Given the description of an element on the screen output the (x, y) to click on. 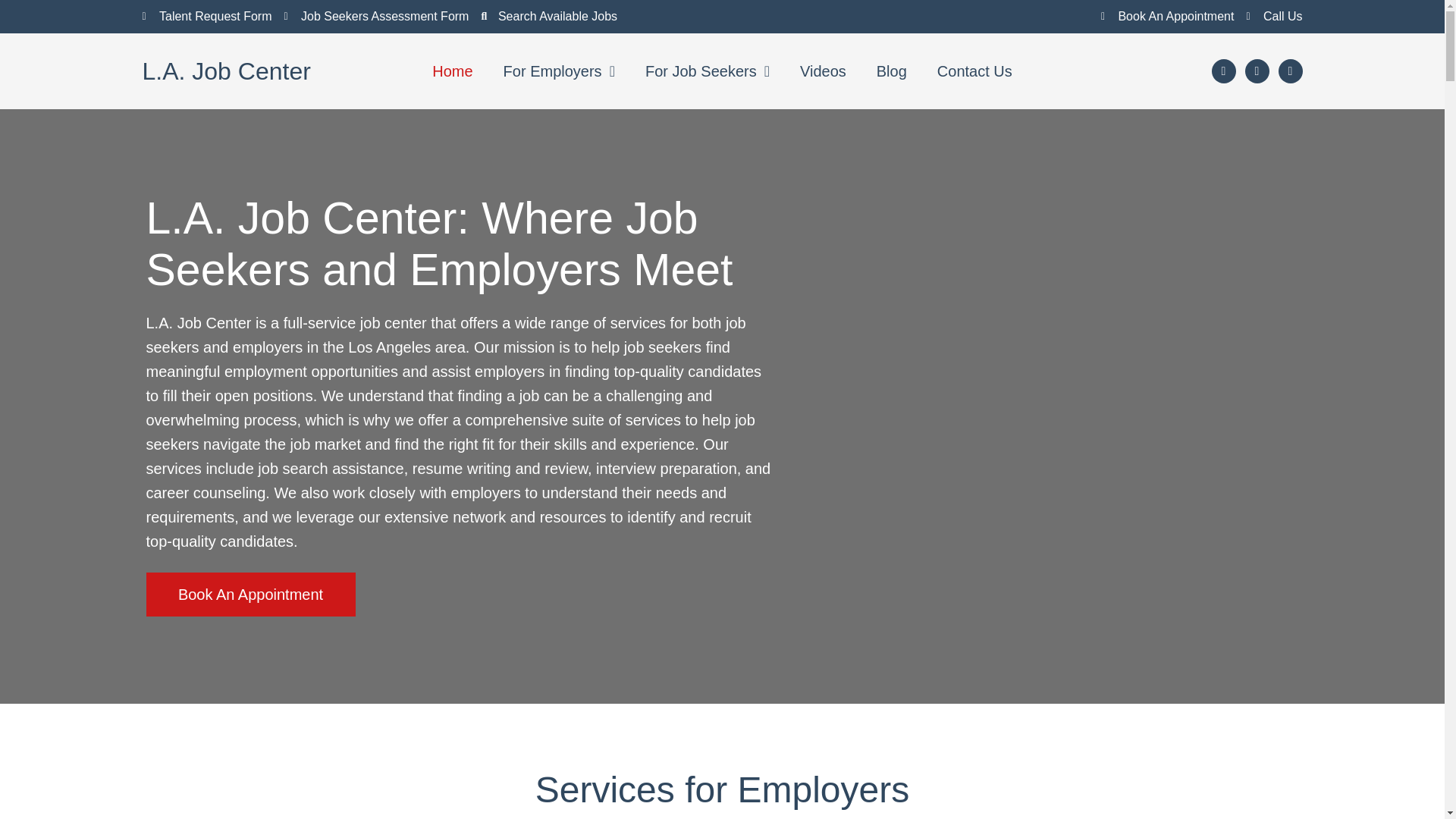
Contact Us (974, 71)
Call Us (1273, 16)
Search Available Jobs (548, 16)
For Employers (558, 71)
Home (451, 71)
Talent Request Form (207, 16)
Videos (822, 71)
Blog (891, 71)
L.A. Job Center (226, 71)
For Job Seekers (707, 71)
